Given the description of an element on the screen output the (x, y) to click on. 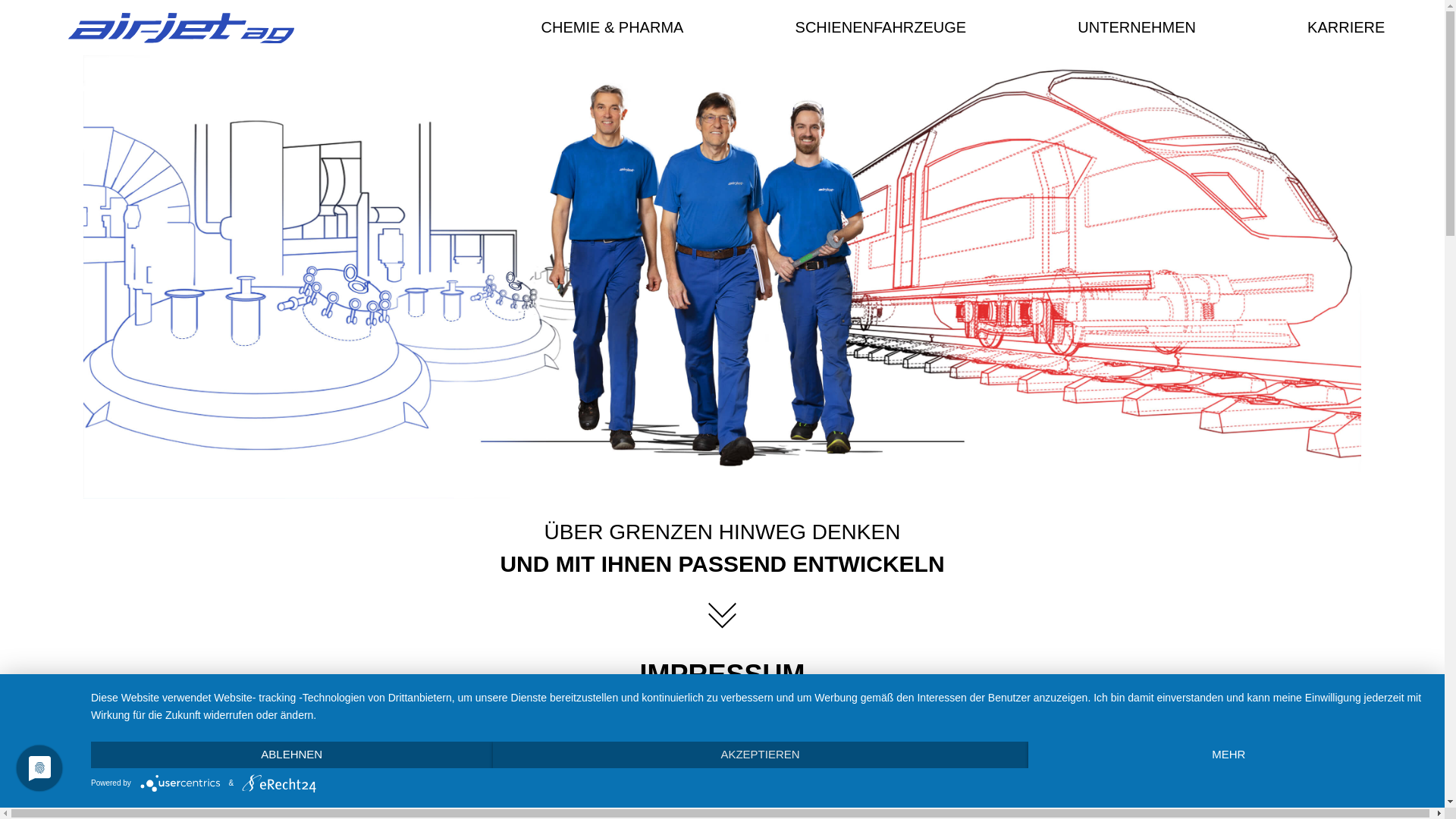
SCHIENENFAHRZEUGE Element type: text (884, 27)
KARRIERE Element type: text (1346, 27)
CHEMIE & PHARMA Element type: text (616, 27)
UNTERNEHMEN Element type: text (1140, 27)
